Given the description of an element on the screen output the (x, y) to click on. 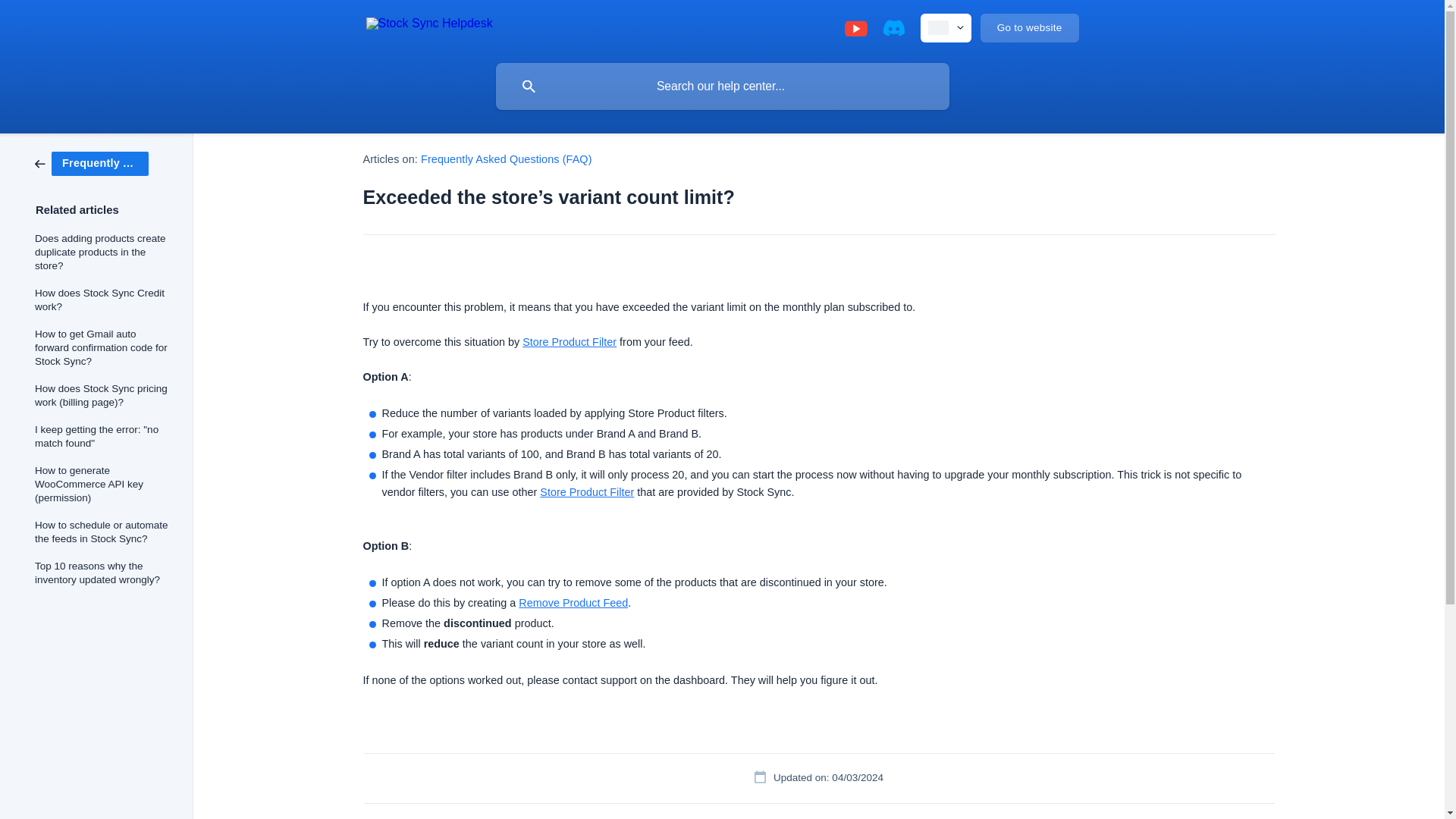
I keep getting the error: "no match found" (102, 436)
Top 10 reasons why the inventory updated wrongly? (102, 572)
Does adding products create duplicate products in the store? (102, 252)
Go to website (1028, 27)
Store Product Filter (586, 491)
How to schedule or automate the feeds in Stock Sync? (102, 531)
Remove Product Feed (572, 603)
Store Product Filter (568, 341)
How does Stock Sync Credit work? (102, 300)
